Given the description of an element on the screen output the (x, y) to click on. 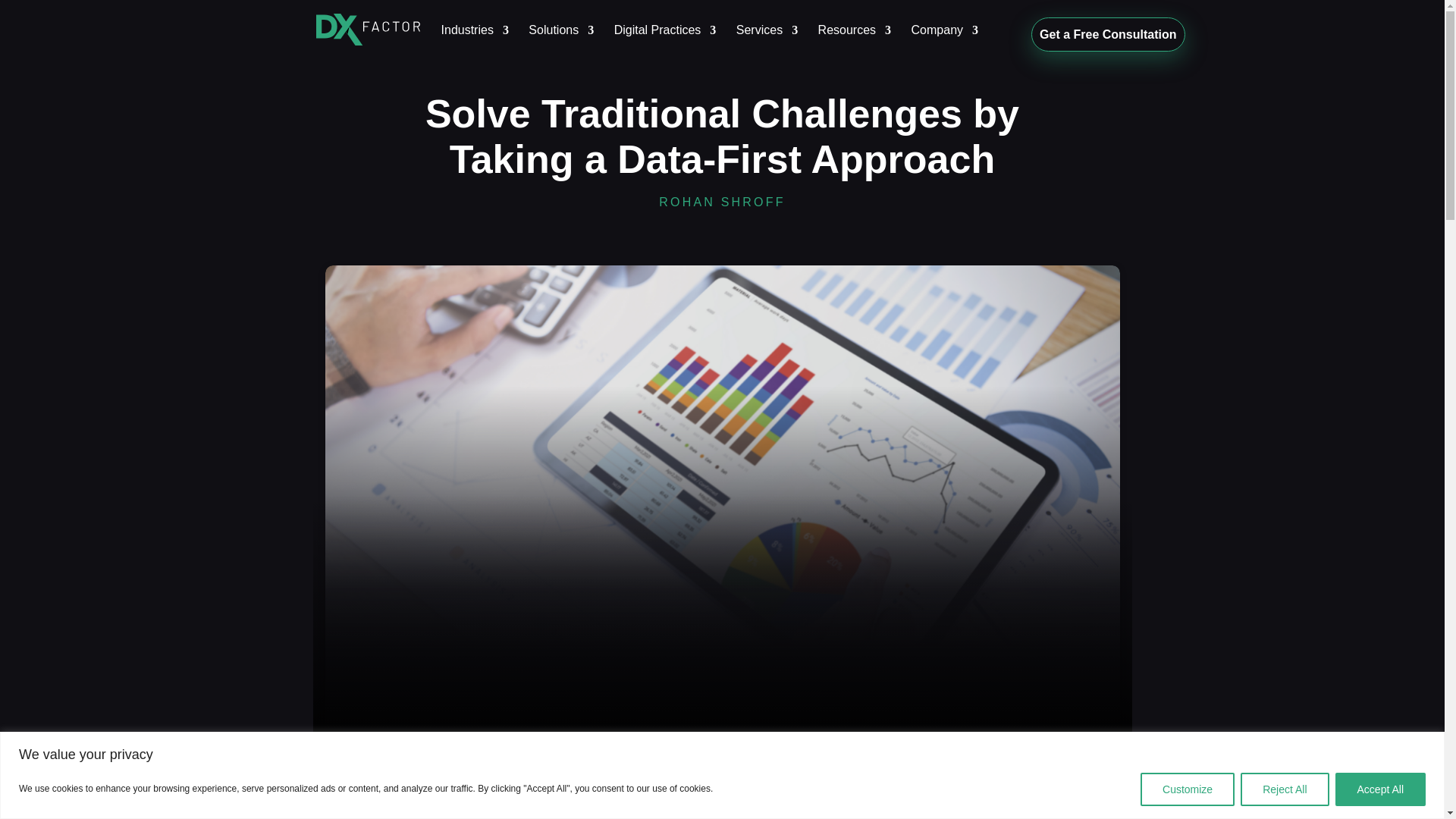
Industries (474, 37)
Digital Practices (665, 37)
Customize (1187, 788)
Accept All (1380, 788)
Reject All (1283, 788)
Services (766, 37)
Solutions (561, 37)
